Given the description of an element on the screen output the (x, y) to click on. 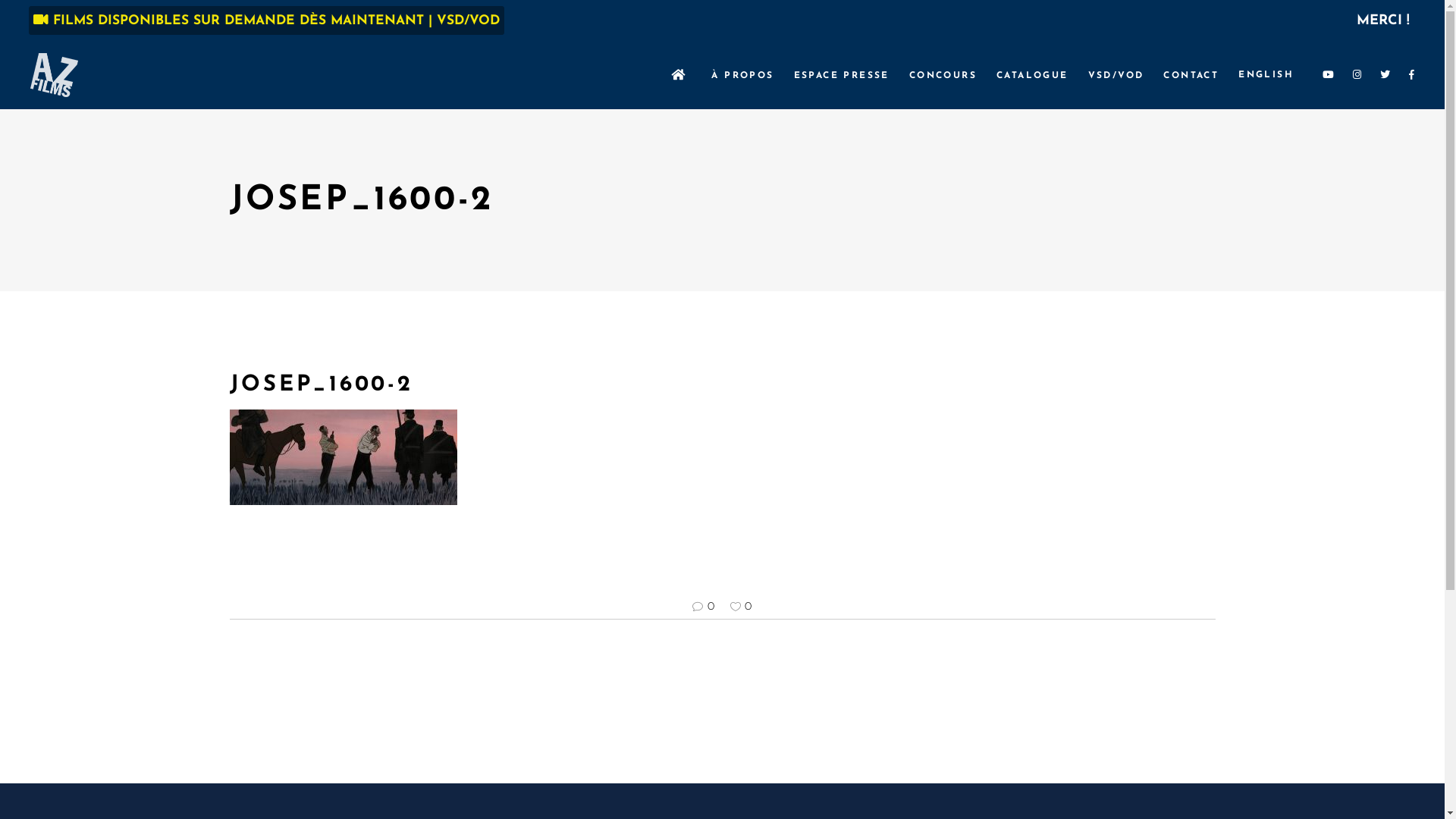
CONTACT Element type: text (1190, 74)
0 Element type: text (703, 606)
ESPACE PRESSE Element type: text (841, 74)
CONCOURS Element type: text (942, 74)
CATALOGUE Element type: text (1032, 74)
0 Element type: text (740, 606)
ENGLISH Element type: text (1265, 74)
VSD/VOD Element type: text (1116, 74)
